Given the description of an element on the screen output the (x, y) to click on. 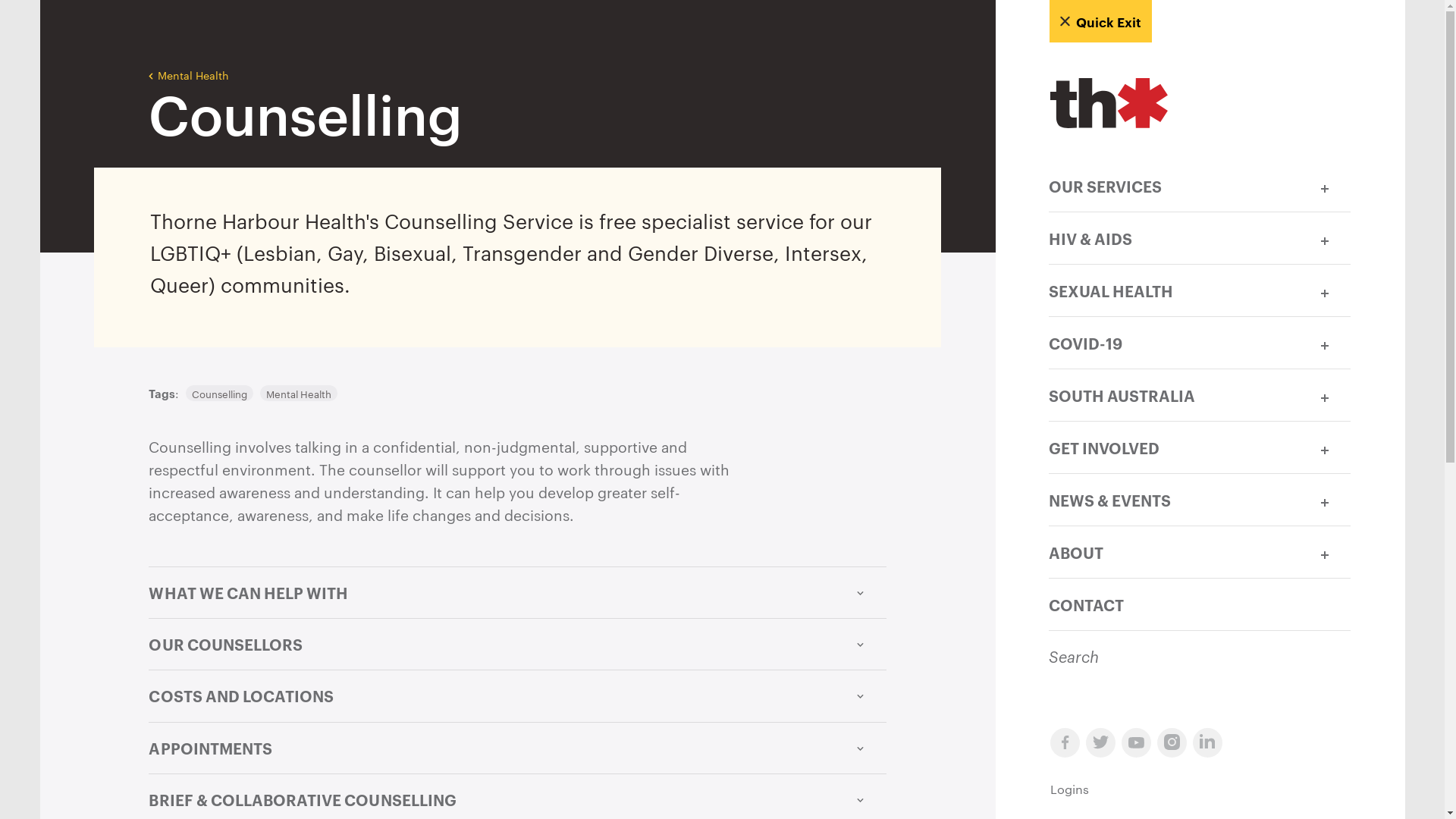
Counselling Element type: text (219, 393)
twitter-symbol Element type: text (1103, 742)
OUR SERVICES Element type: text (1173, 185)
GET INVOLVED Element type: text (1173, 446)
youtube-symbol Element type: text (1138, 742)
CONTACT Element type: text (1199, 603)
facebook-symbol Element type: text (1067, 742)
SOUTH AUSTRALIA Element type: text (1173, 394)
NEWS & EVENTS Element type: text (1173, 499)
Thorne Harbour Health Element type: text (1199, 104)
HIV & AIDS Element type: text (1173, 236)
COVID-19 Element type: text (1173, 341)
ABOUT Element type: text (1173, 550)
Mental Health Element type: text (298, 393)
Quick Exit Element type: text (1100, 21)
icons / angleLeft Mental Health Element type: text (188, 40)
Logins Element type: text (1199, 788)
SEXUAL HEALTH Element type: text (1173, 289)
